Given the description of an element on the screen output the (x, y) to click on. 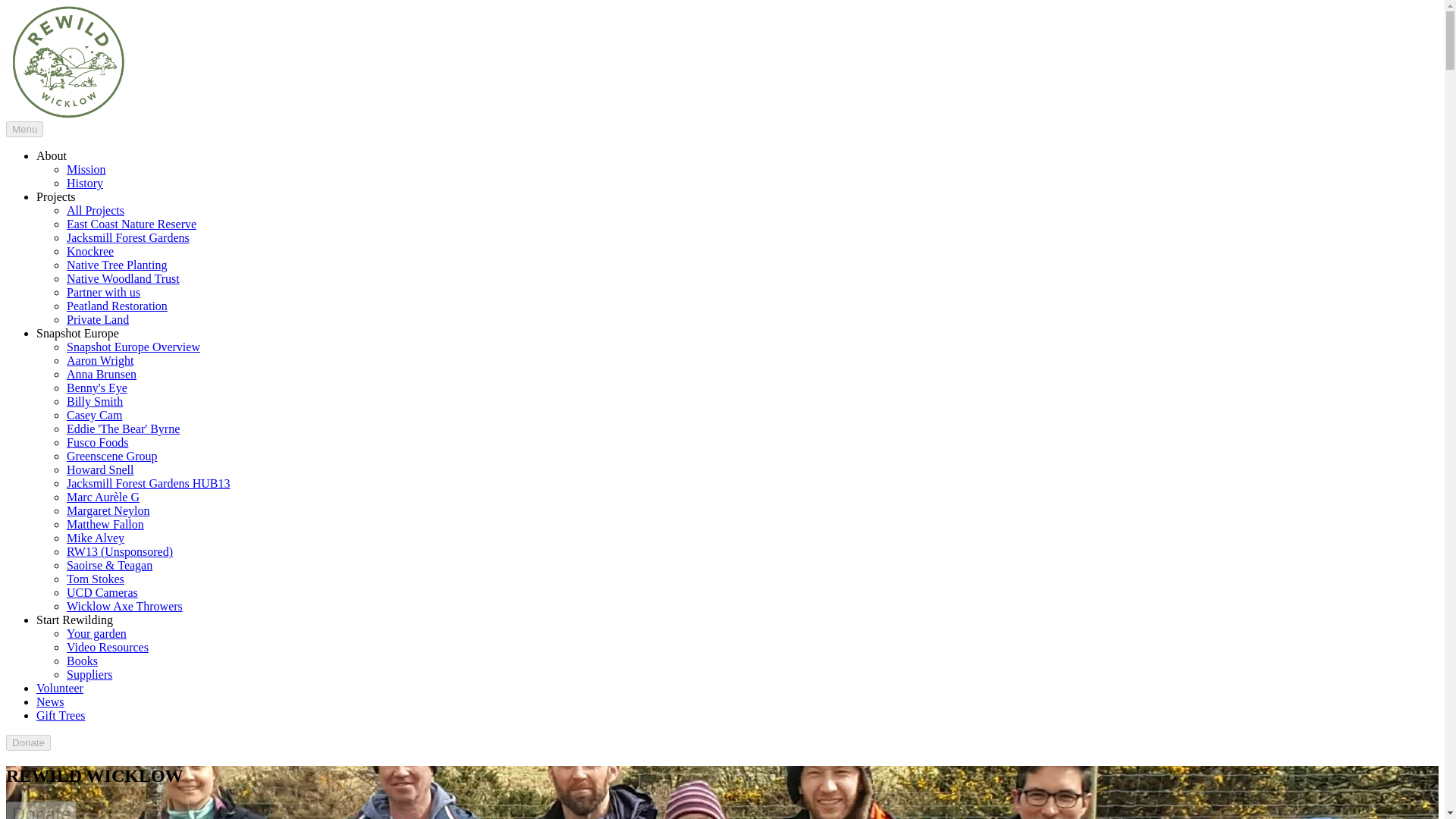
News (50, 701)
Snapshot Europe Overview (133, 346)
Knockree (89, 250)
Jacksmill Forest Gardens (127, 237)
Wicklow Axe Throwers (124, 605)
History (84, 182)
Gift Trees (60, 715)
Video Resources (107, 646)
Howard Snell (99, 469)
East Coast Nature Reserve (131, 223)
Margaret Neylon (107, 510)
Casey Cam (94, 414)
Eddie 'The Bear' Byrne (122, 428)
Volunteer (59, 687)
Peatland Restoration (116, 305)
